Given the description of an element on the screen output the (x, y) to click on. 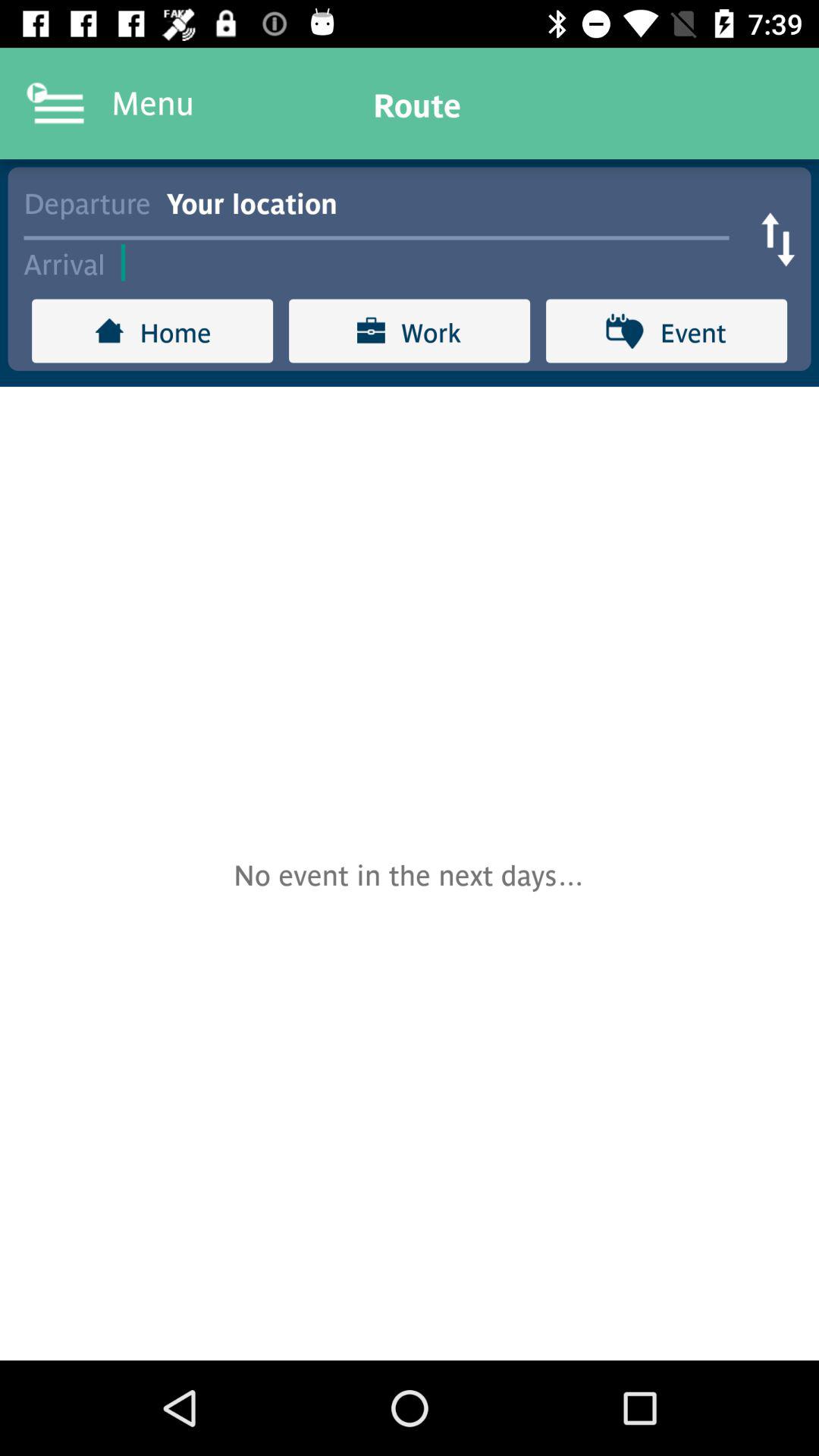
open item to the right of arrival item (433, 261)
